Given the description of an element on the screen output the (x, y) to click on. 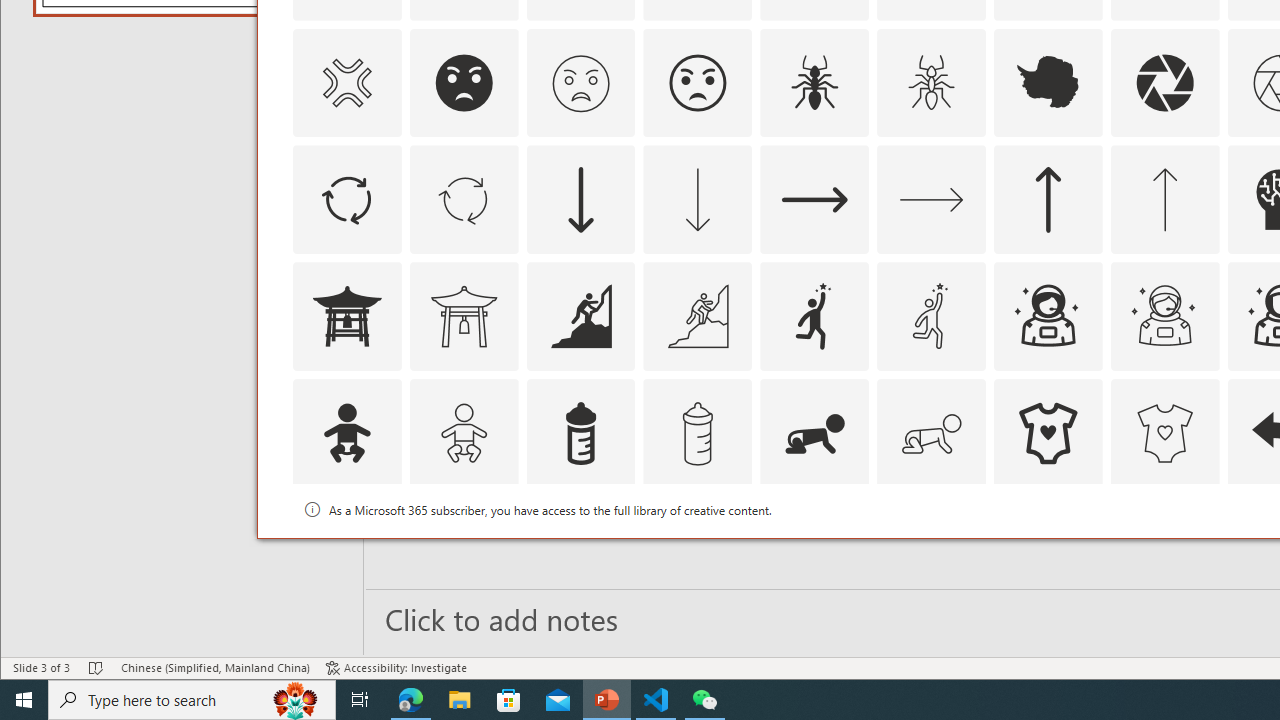
AutomationID: Icons_Aspiration1_M (931, 316)
AutomationID: Icons_Badge3 (697, 550)
